Given the description of an element on the screen output the (x, y) to click on. 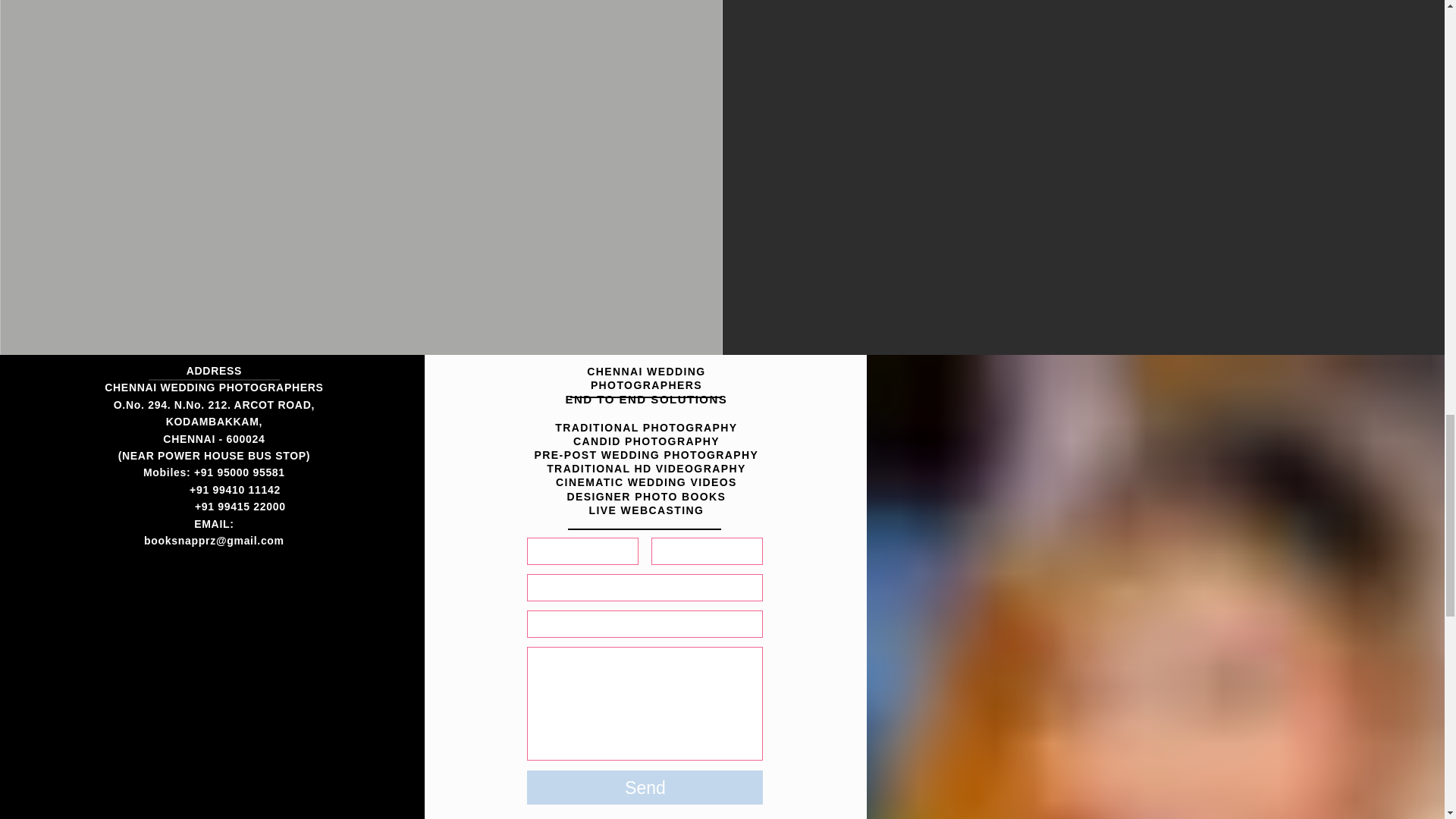
Google Maps (210, 707)
Send (644, 787)
